Given the description of an element on the screen output the (x, y) to click on. 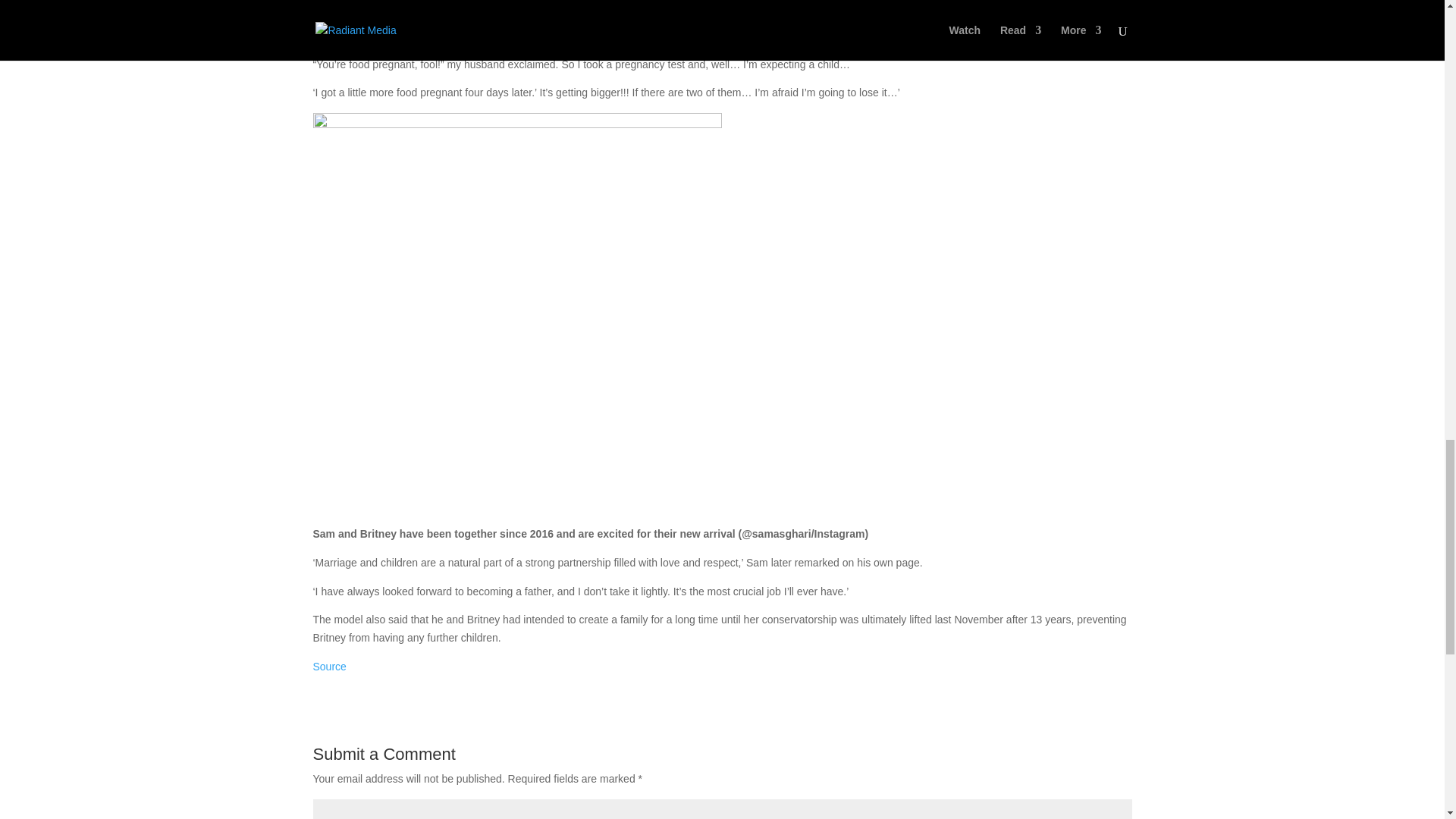
Source (329, 666)
